Given the description of an element on the screen output the (x, y) to click on. 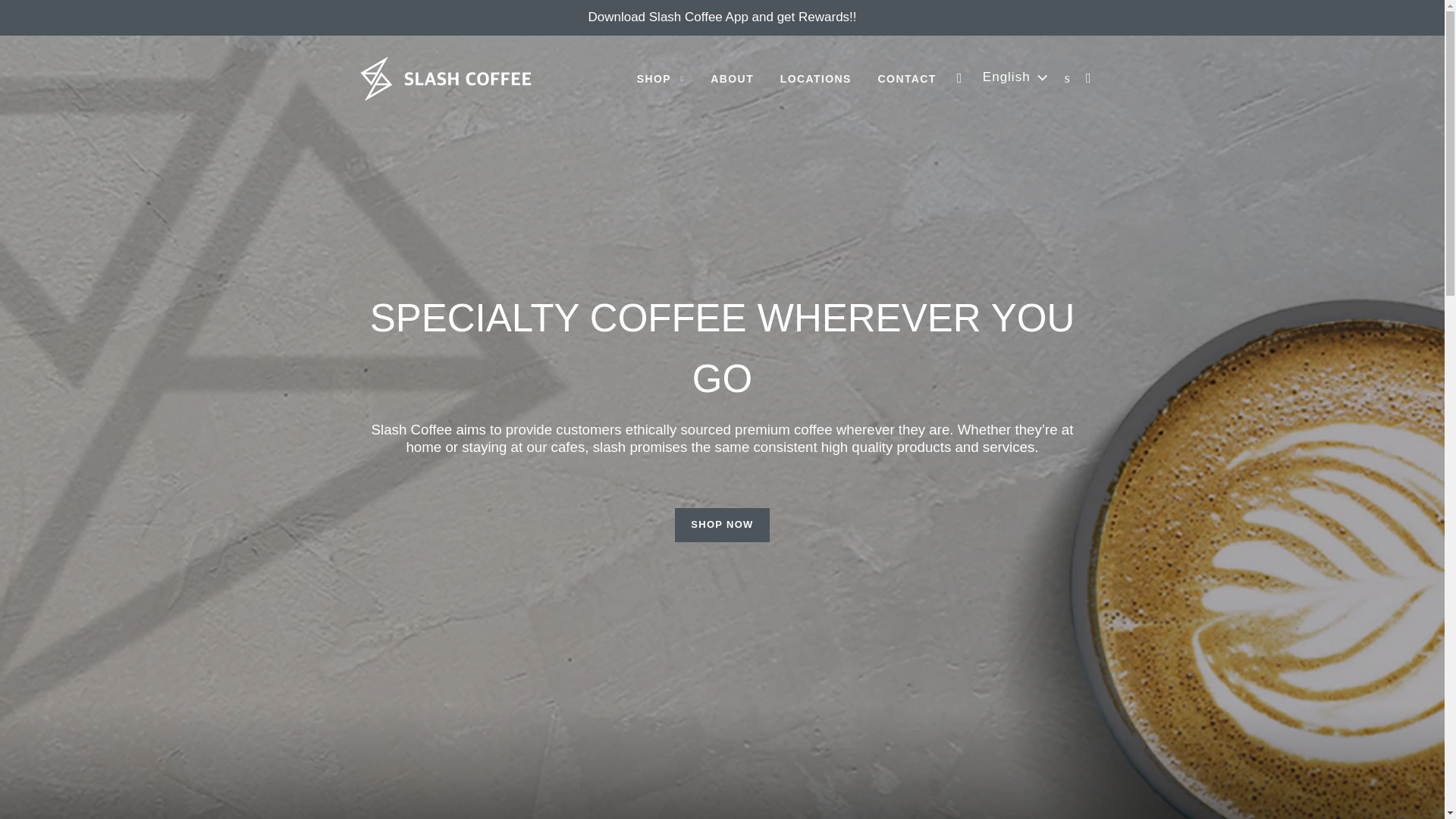
SHOP (660, 79)
CONTACT (906, 79)
LOCATIONS (815, 79)
ABOUT (731, 79)
SHOP NOW (721, 524)
